Given the description of an element on the screen output the (x, y) to click on. 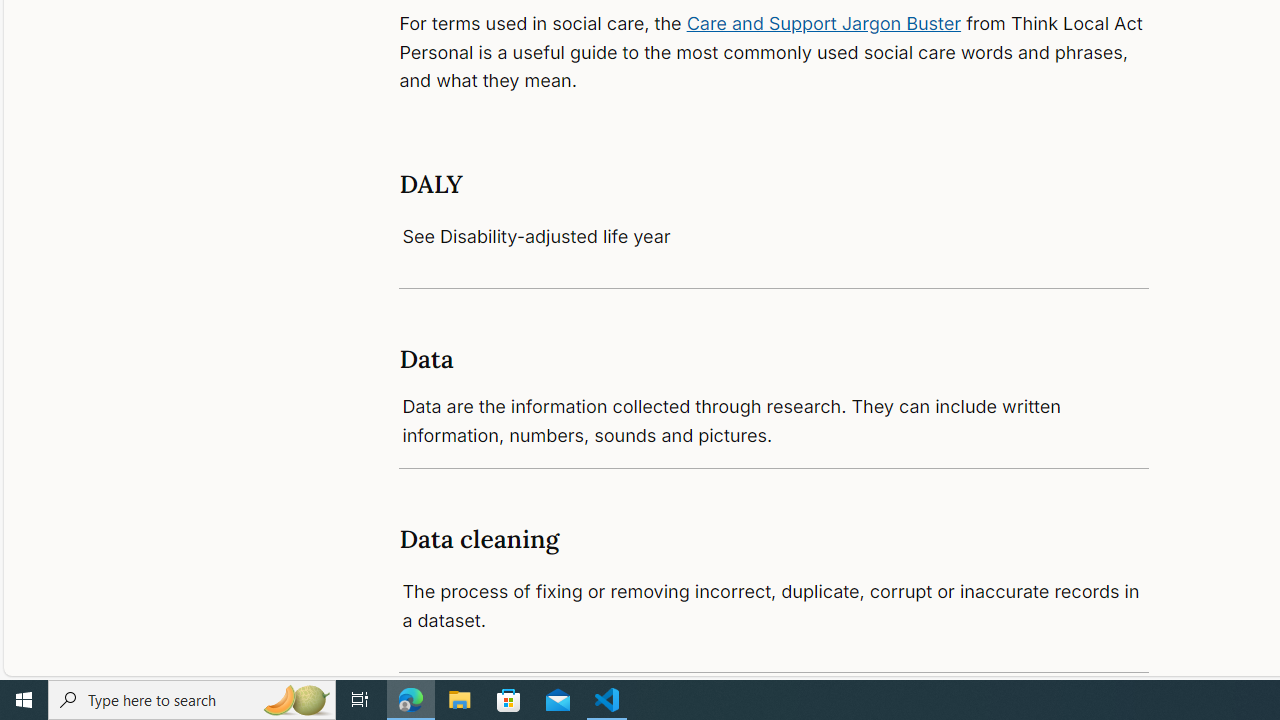
DALYSee Disability-adjusted life year (774, 209)
Care and Support Jargon Buster (824, 22)
